Given the description of an element on the screen output the (x, y) to click on. 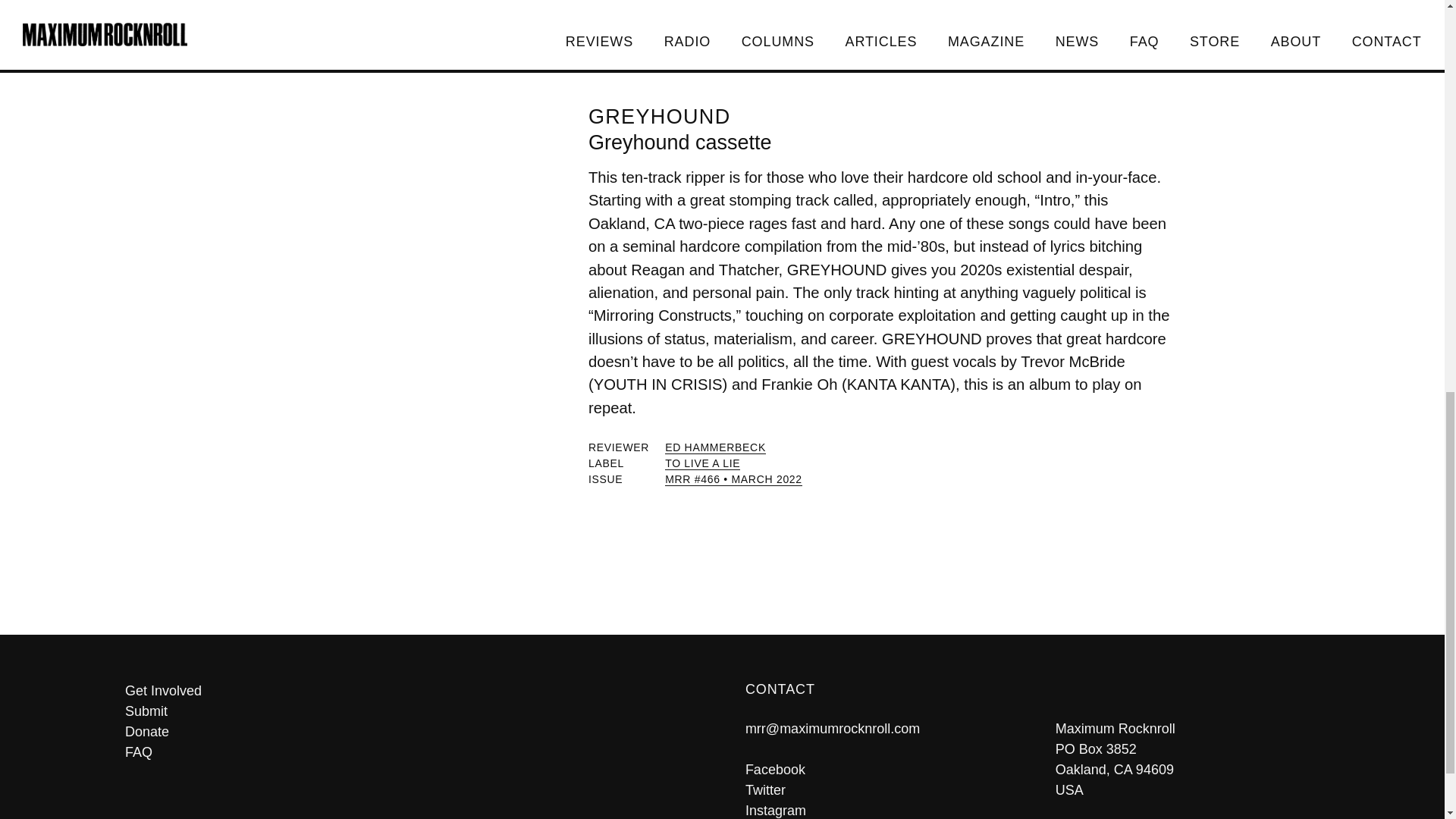
Donate (411, 731)
TO LIVE A LIE (702, 463)
GREYHOUND (659, 116)
FAQ (411, 752)
Twitter (765, 789)
Submit (411, 711)
Instagram (775, 810)
Get Involved (411, 690)
Facebook (775, 769)
ED HAMMERBECK (715, 447)
